Given the description of an element on the screen output the (x, y) to click on. 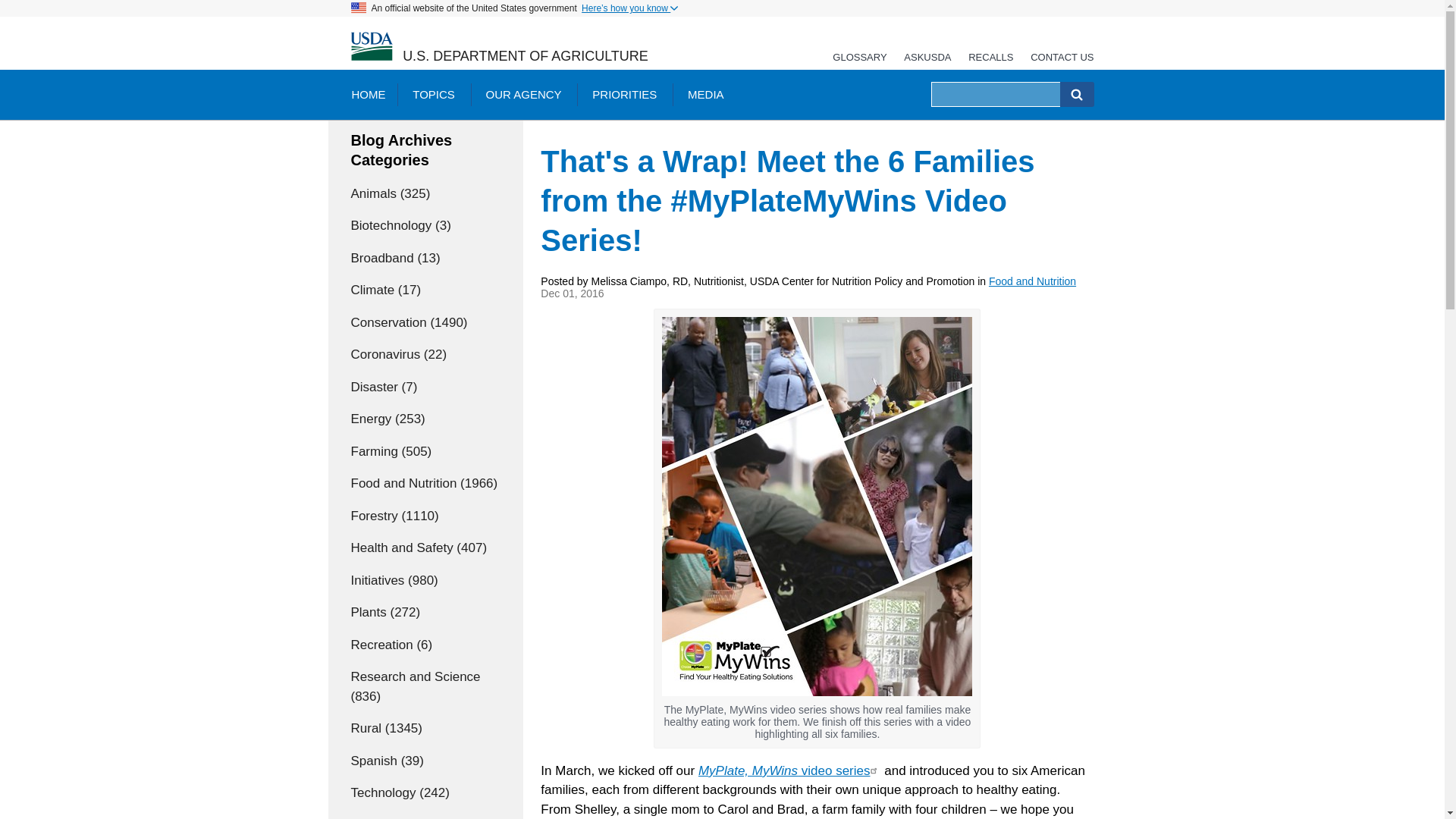
PRIORITIES (623, 94)
Home (525, 55)
OUR AGENCY (523, 94)
HOME (367, 94)
U.S. DEPARTMENT OF AGRICULTURE (525, 55)
TOPICS (433, 94)
Home (370, 46)
